Given the description of an element on the screen output the (x, y) to click on. 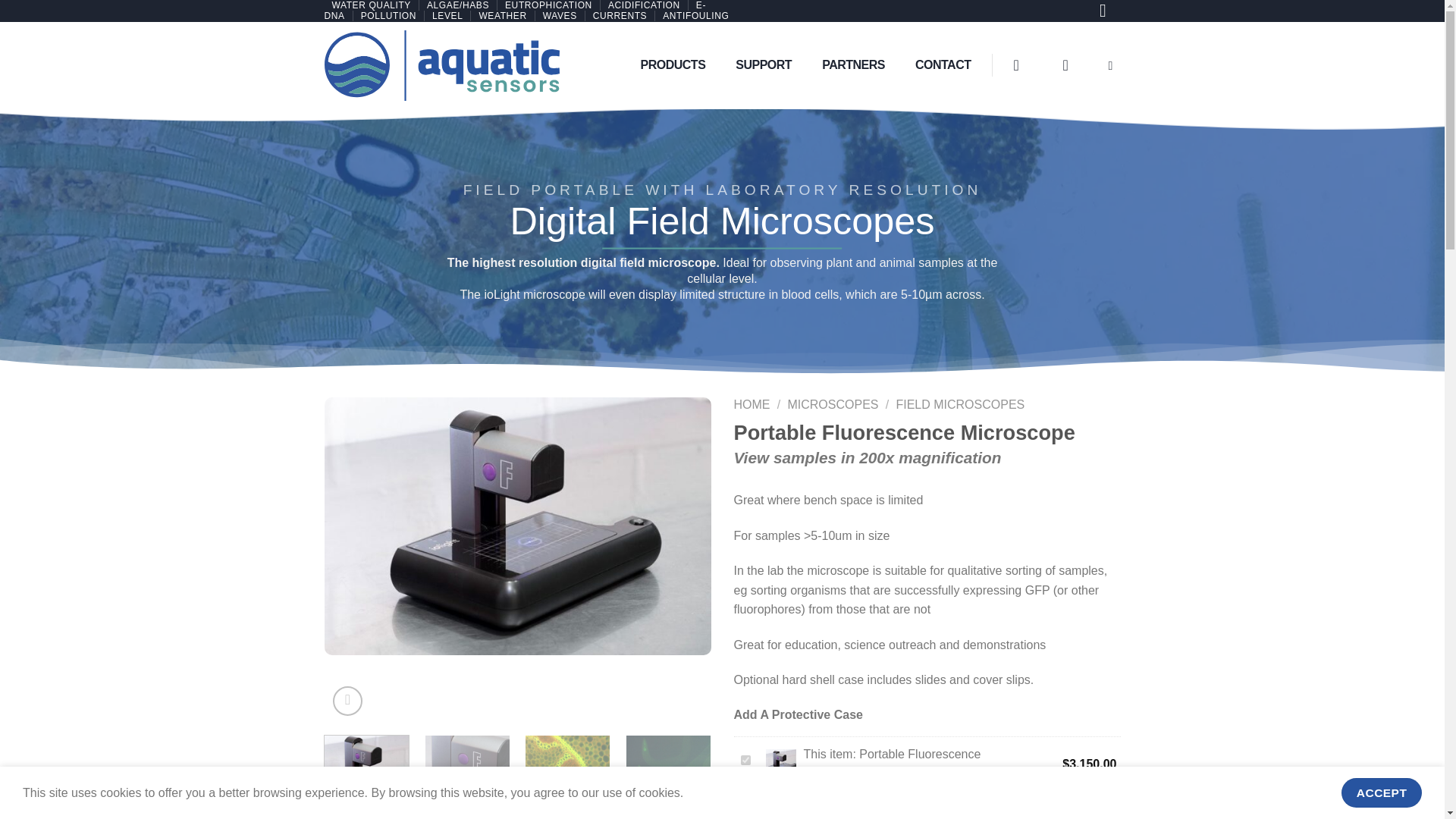
EUTROPHICATION (548, 5)
WATER QUALITY (370, 5)
e-DNA (515, 10)
E-DNA (515, 10)
on (744, 759)
5579 (744, 809)
Follow on LinkedIn (1108, 13)
Antifouling (695, 15)
Waves (559, 15)
Weather (502, 15)
Aquatic Sensors - Water Quality Sensors (441, 65)
Eutrophication (548, 5)
Level (447, 15)
WEATHER (502, 15)
Acidification (643, 5)
